Given the description of an element on the screen output the (x, y) to click on. 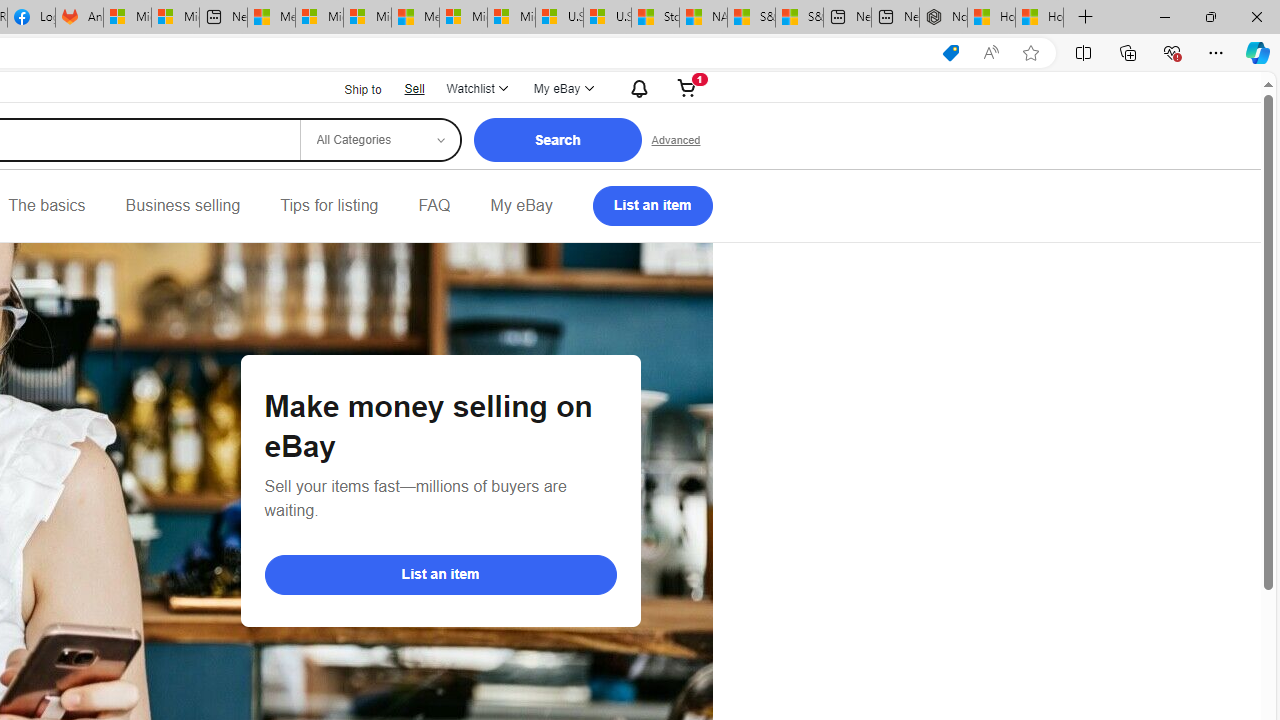
AutomationID: gh-eb-Alerts (636, 88)
Watchlist (476, 88)
Business selling (182, 205)
FAQ (434, 205)
Sell (414, 87)
Expand Cart (687, 88)
